Given the description of an element on the screen output the (x, y) to click on. 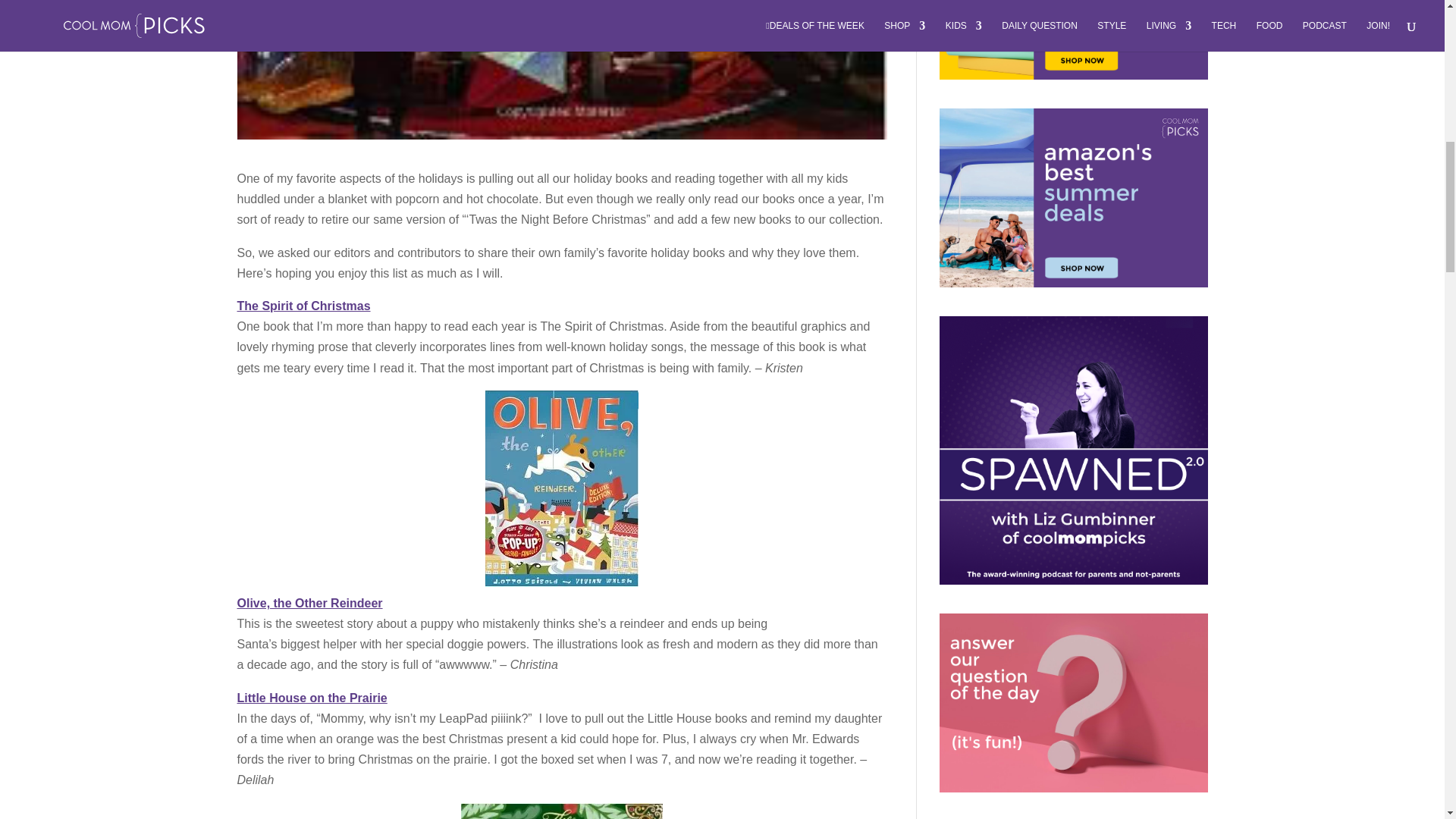
Favorite holiday books: Olive the Other Reindeer (561, 488)
The Nutcracker pop-up book (561, 811)
Little House on the Prairie (311, 697)
Favorite holiday books: Olive the Other Reindeer (308, 603)
The Spirit of Christmas on Amazon (302, 305)
